Given the description of an element on the screen output the (x, y) to click on. 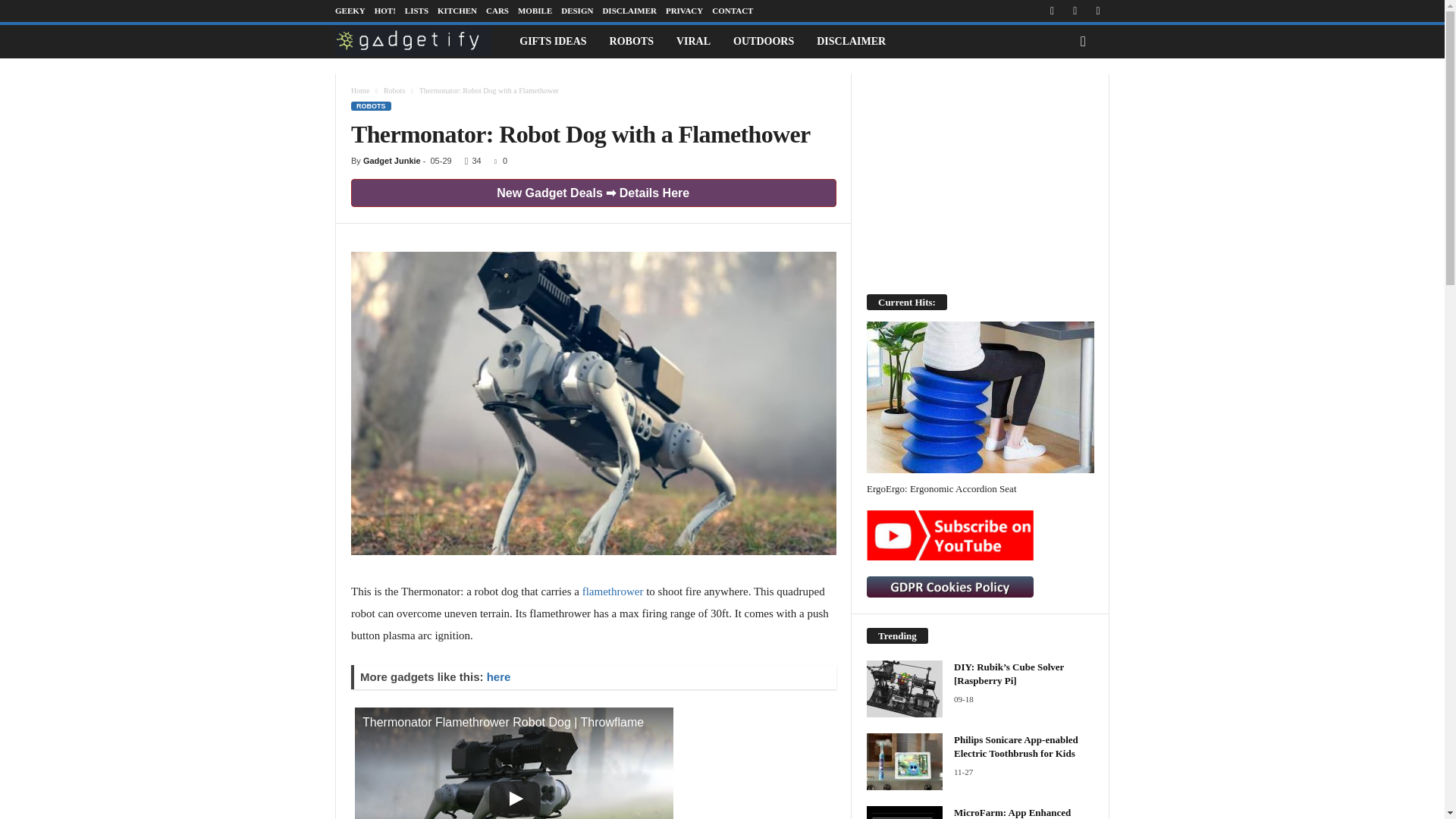
GEEKY (349, 10)
LISTS (416, 10)
HOT! (385, 10)
